Given the description of an element on the screen output the (x, y) to click on. 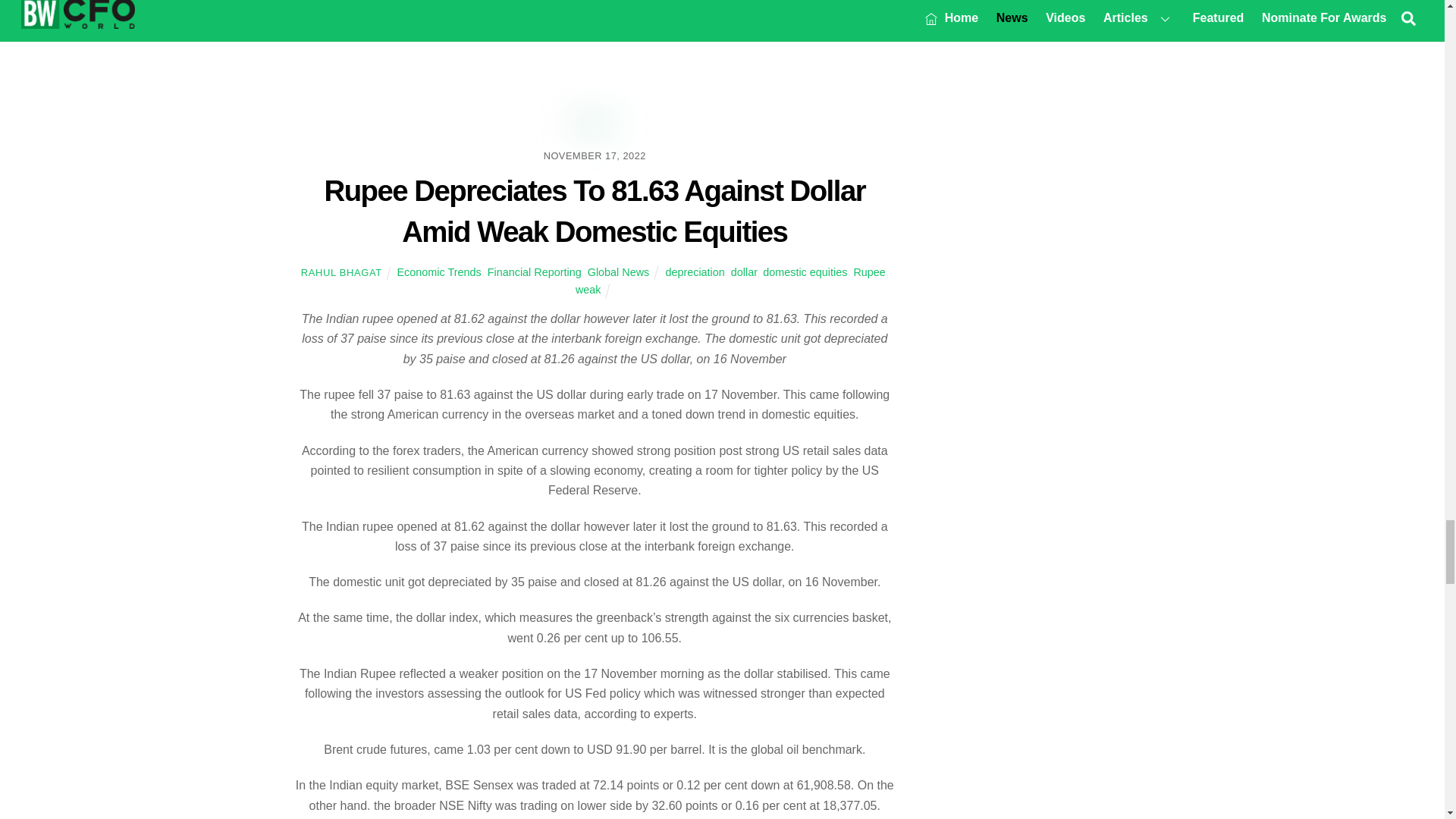
rupee (594, 124)
